Given the description of an element on the screen output the (x, y) to click on. 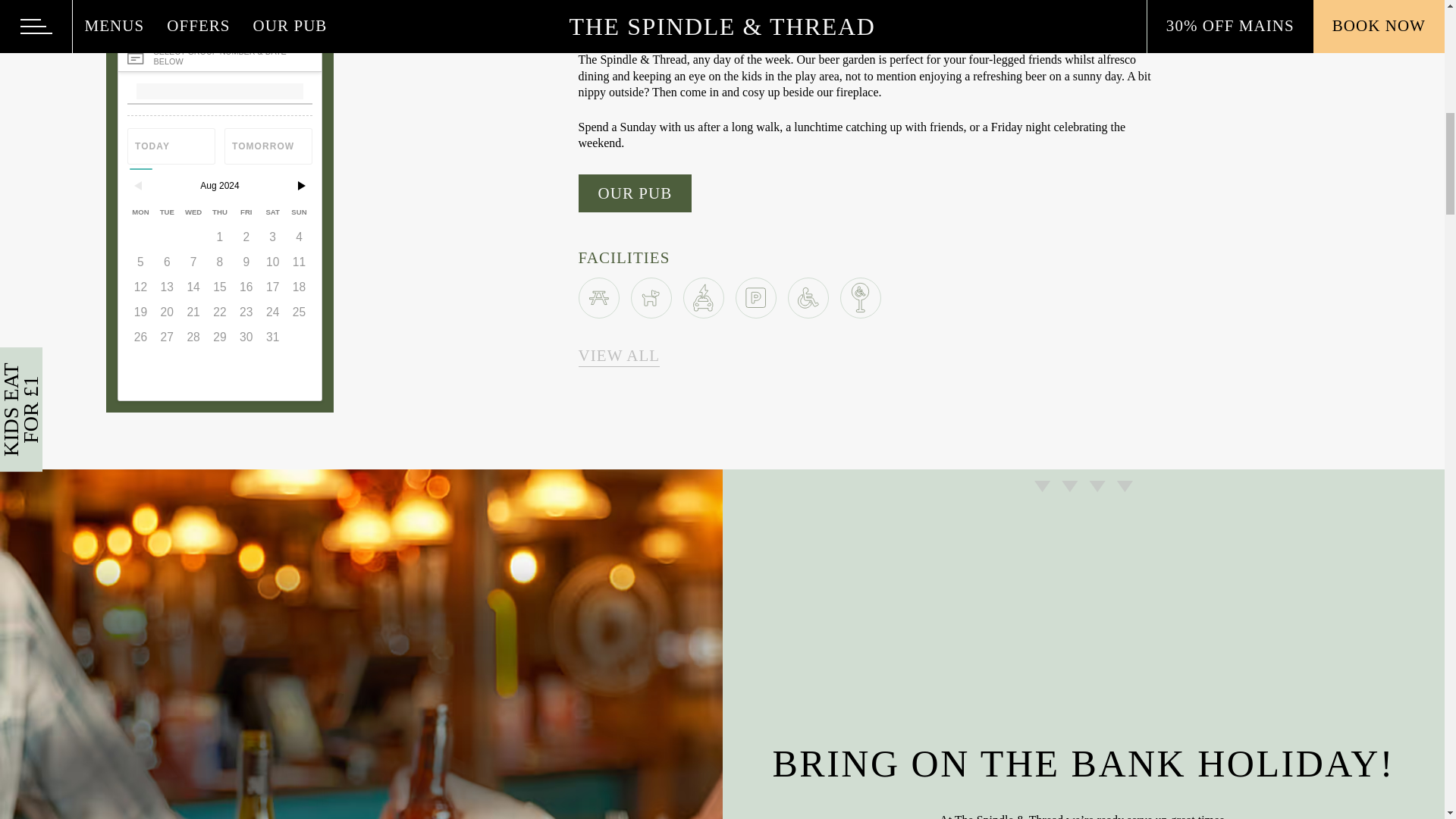
Car Park Icon (755, 297)
TOMORROW (268, 145)
VIEW ALL (618, 355)
Beer Garden Icon (598, 297)
TODAY (171, 145)
OUR PUB (634, 193)
Dog Friendly Icon (650, 297)
